Given the description of an element on the screen output the (x, y) to click on. 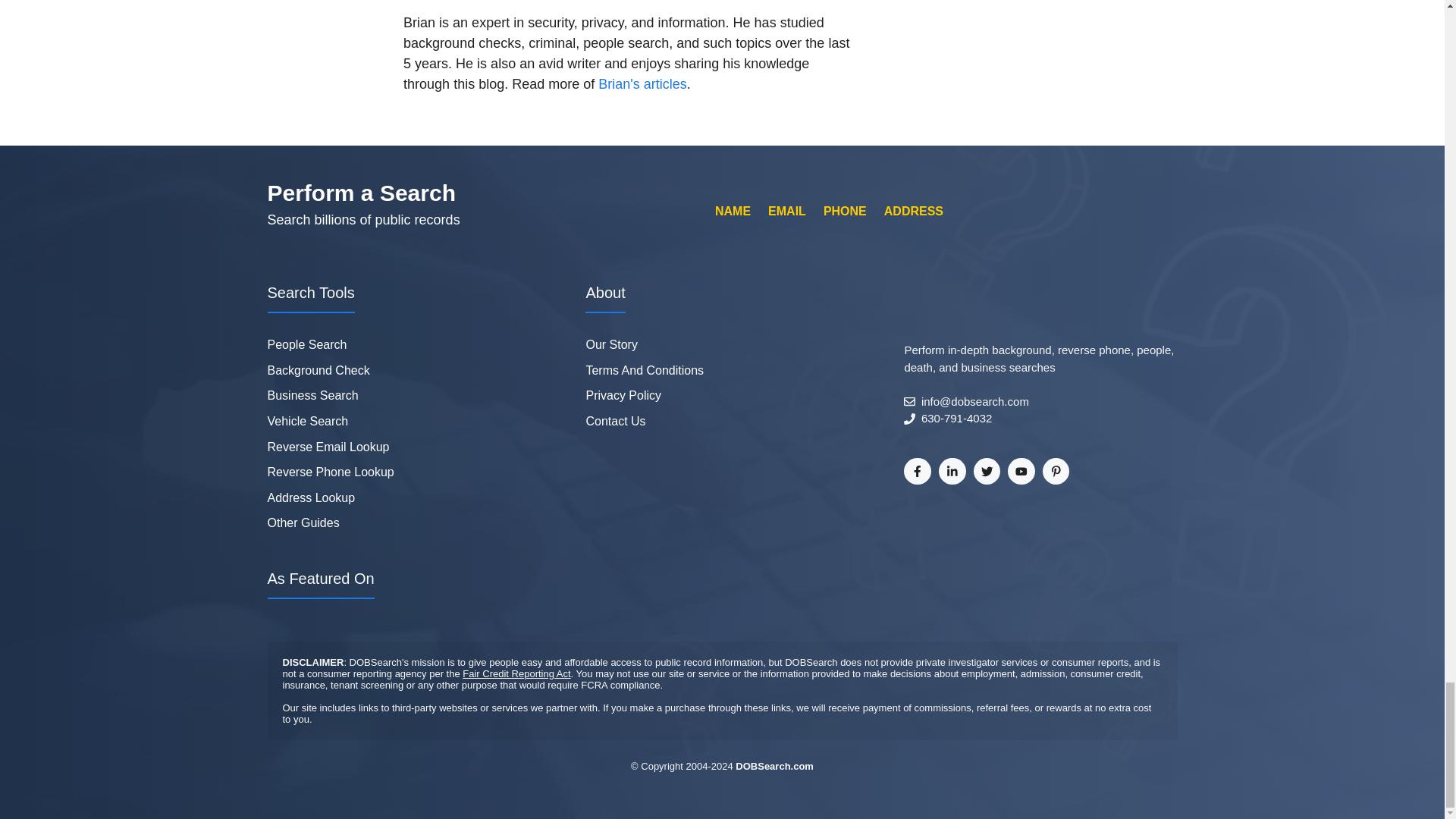
Brian's articles (641, 83)
